Given the description of an element on the screen output the (x, y) to click on. 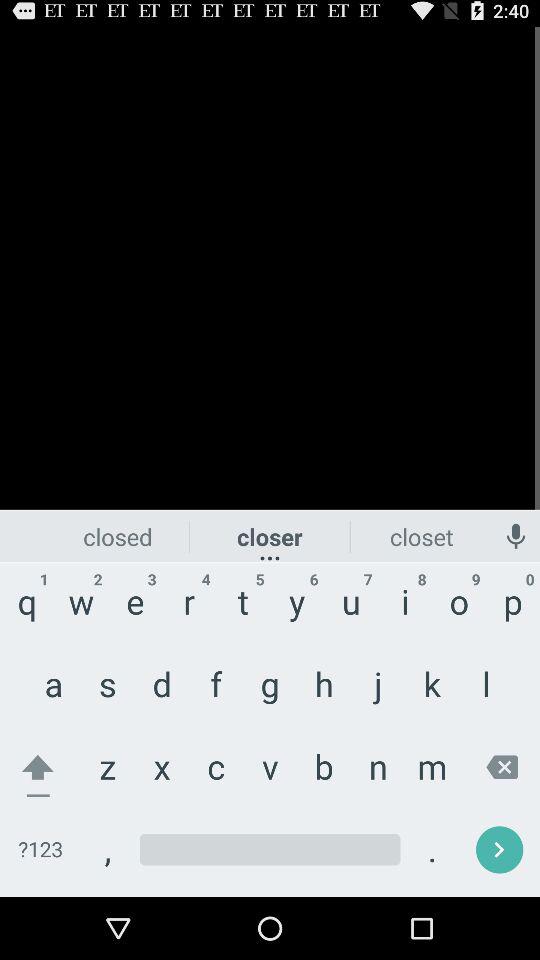
to use space bar (270, 850)
